Given the description of an element on the screen output the (x, y) to click on. 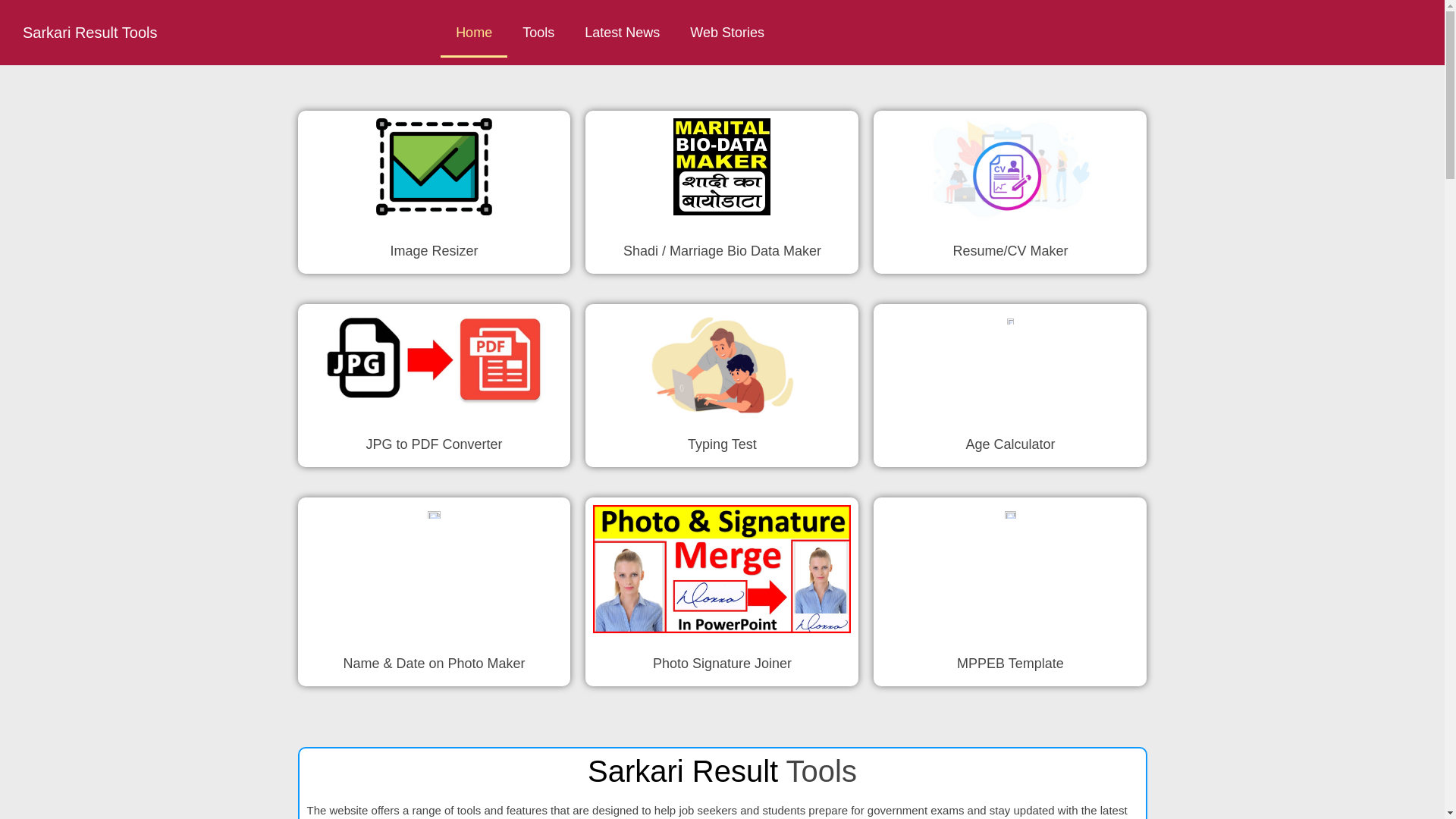
Tools (537, 32)
Home (473, 32)
Latest News (622, 32)
Web Stories (726, 32)
Sarkari Result Tools (90, 32)
